Given the description of an element on the screen output the (x, y) to click on. 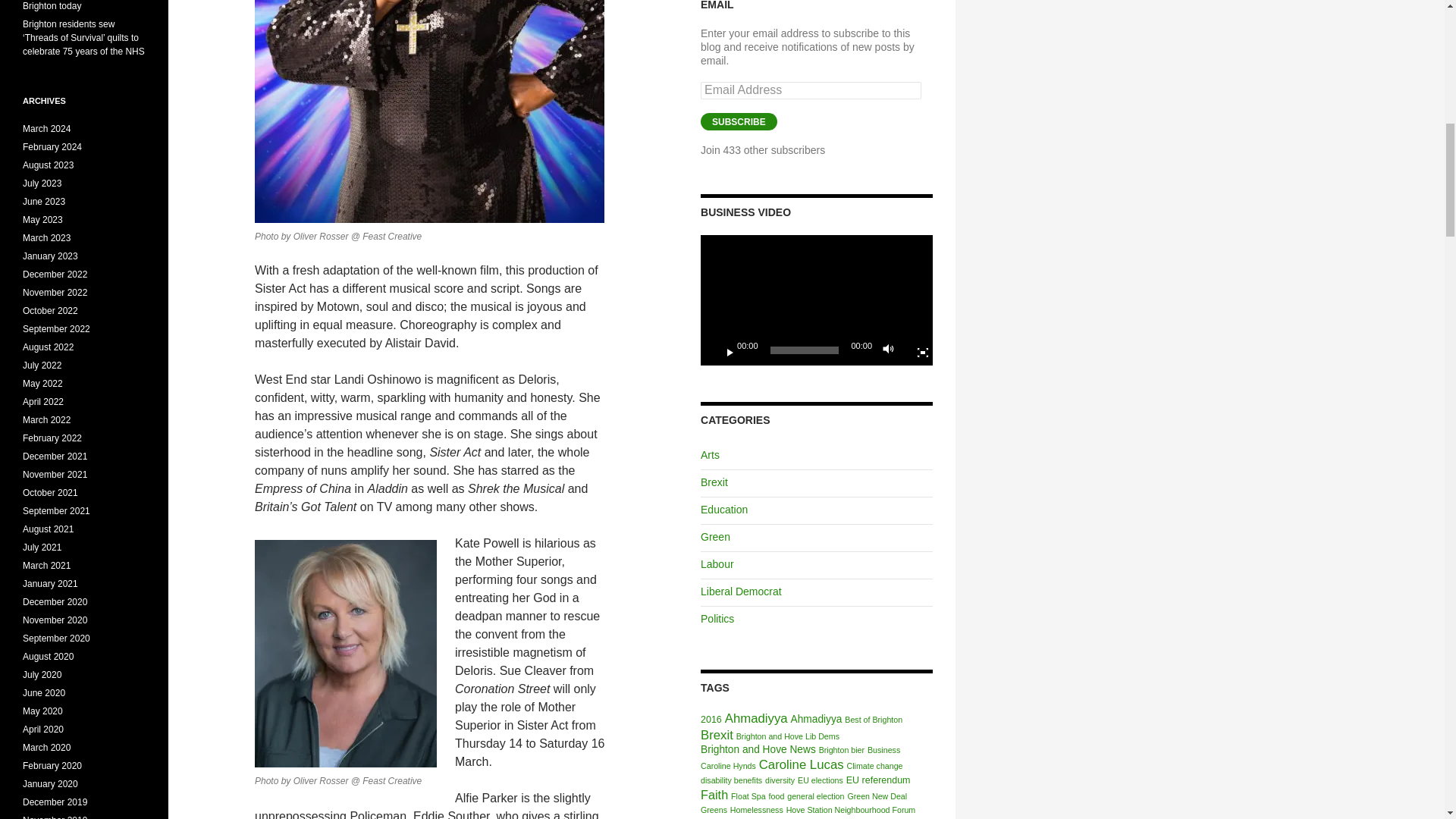
Mute (892, 350)
Green (715, 536)
Education (724, 509)
Brexit (714, 481)
Fullscreen (916, 350)
Arts (709, 454)
Liberal Democrat (740, 591)
SUBSCRIBE (738, 121)
Labour (716, 563)
Play (724, 350)
